Given the description of an element on the screen output the (x, y) to click on. 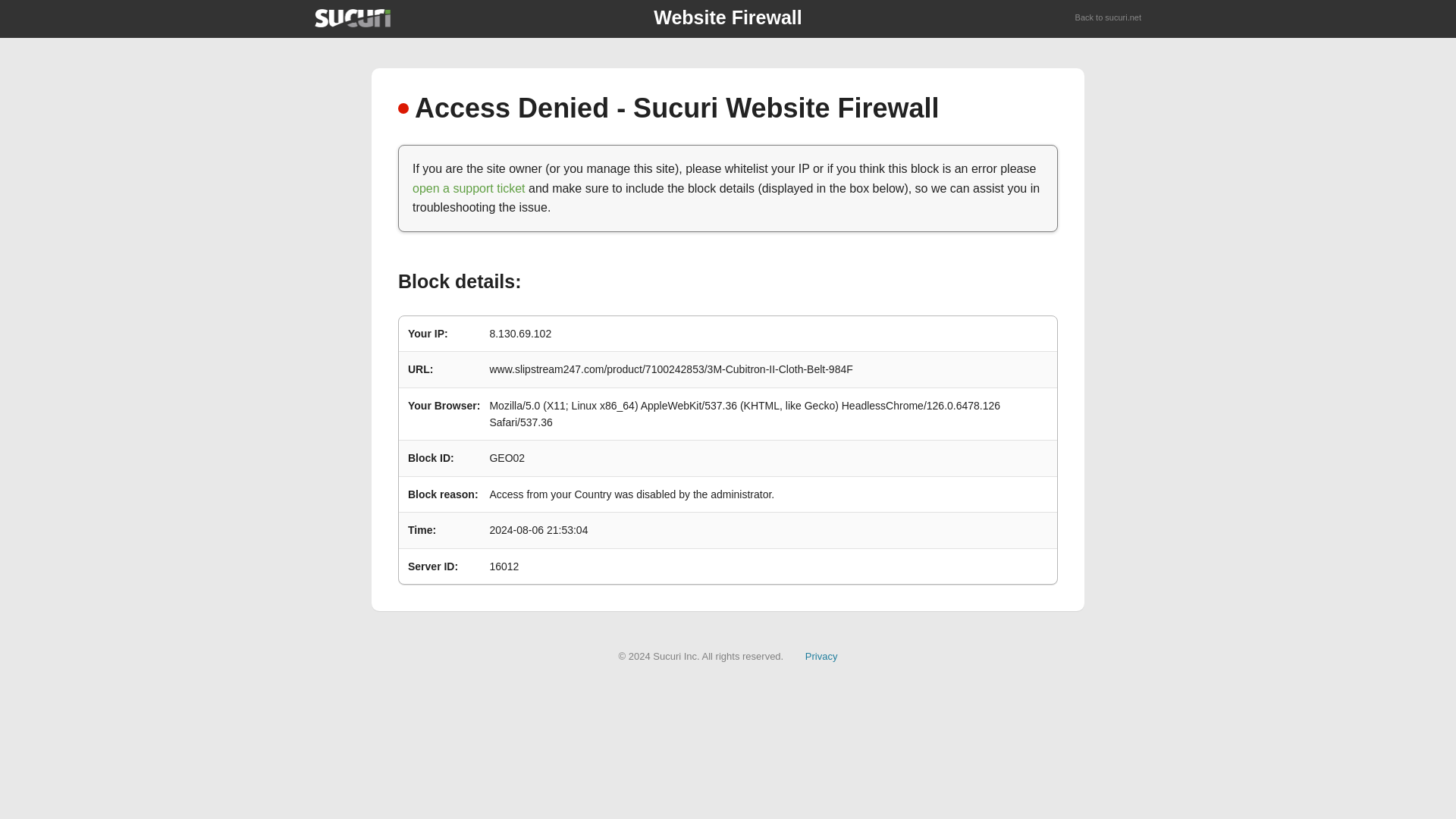
Back to sucuri.net (1108, 18)
Privacy (821, 655)
open a support ticket (468, 187)
